Given the description of an element on the screen output the (x, y) to click on. 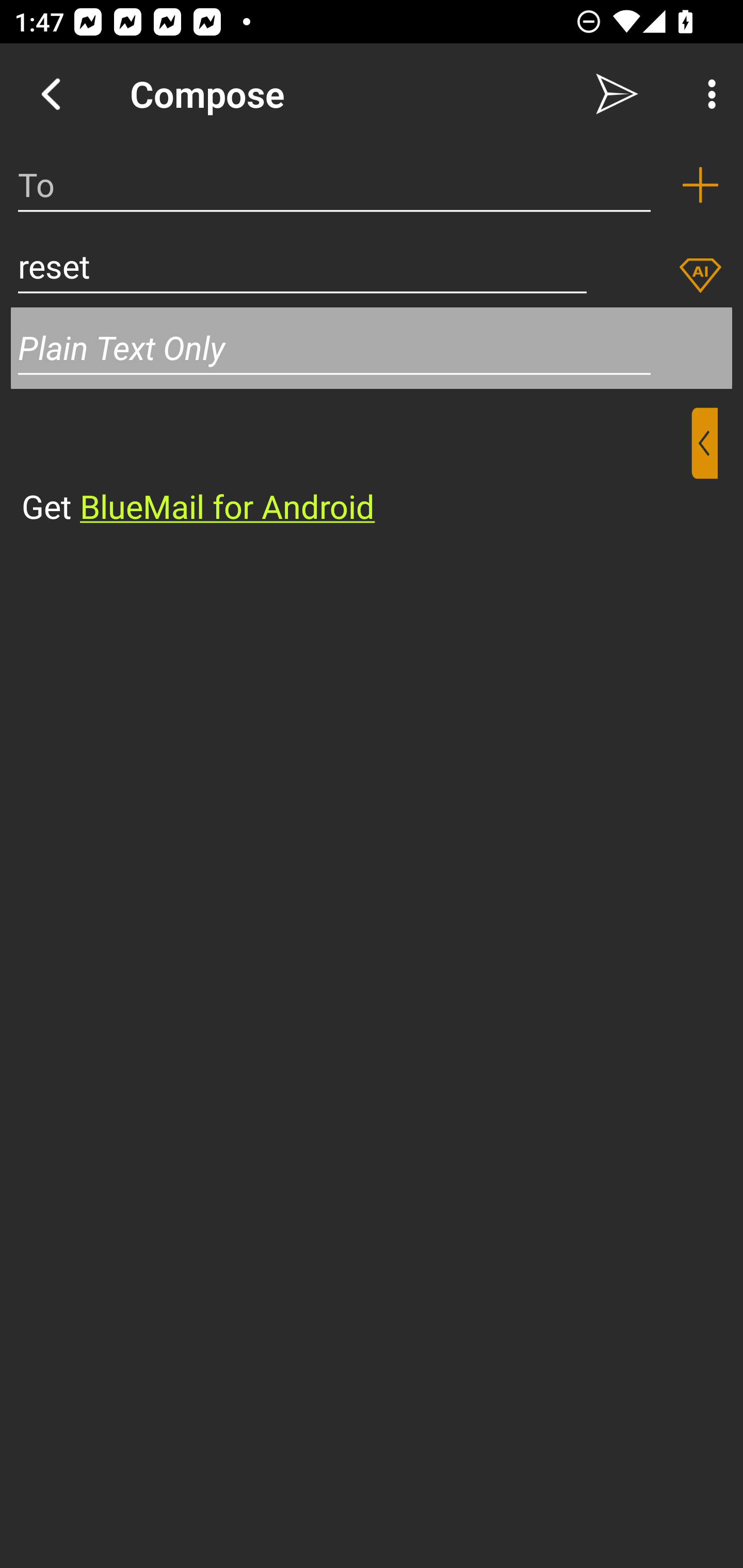
Navigate up (50, 93)
Send (616, 93)
More Options (706, 93)
To (334, 184)
Add recipient (To) (699, 184)
reset (302, 266)
Plain Text Only (371, 347)
Plain Text Only (334, 347)


⁣Get BlueMail for Android ​ (355, 468)
